Given the description of an element on the screen output the (x, y) to click on. 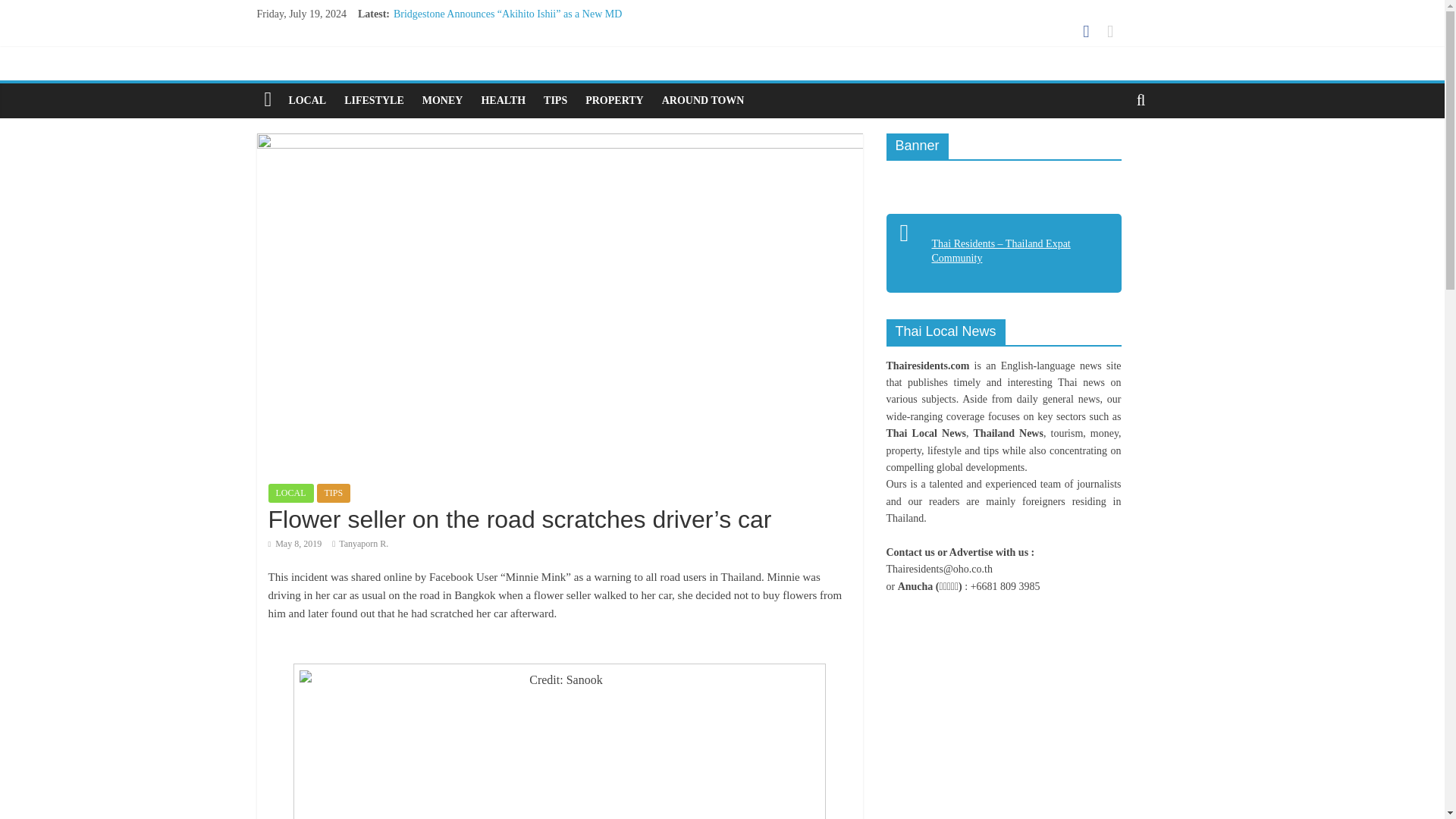
MONEY (442, 100)
HEALTH (502, 100)
LOCAL (306, 100)
9:47 am (294, 543)
Tanyaporn R. (363, 543)
Tanyaporn R. (363, 543)
TIPS (333, 493)
TIPS (555, 100)
PROPERTY (614, 100)
LIFESTYLE (373, 100)
AROUND TOWN (703, 100)
May 8, 2019 (294, 543)
LOCAL (290, 493)
